Given the description of an element on the screen output the (x, y) to click on. 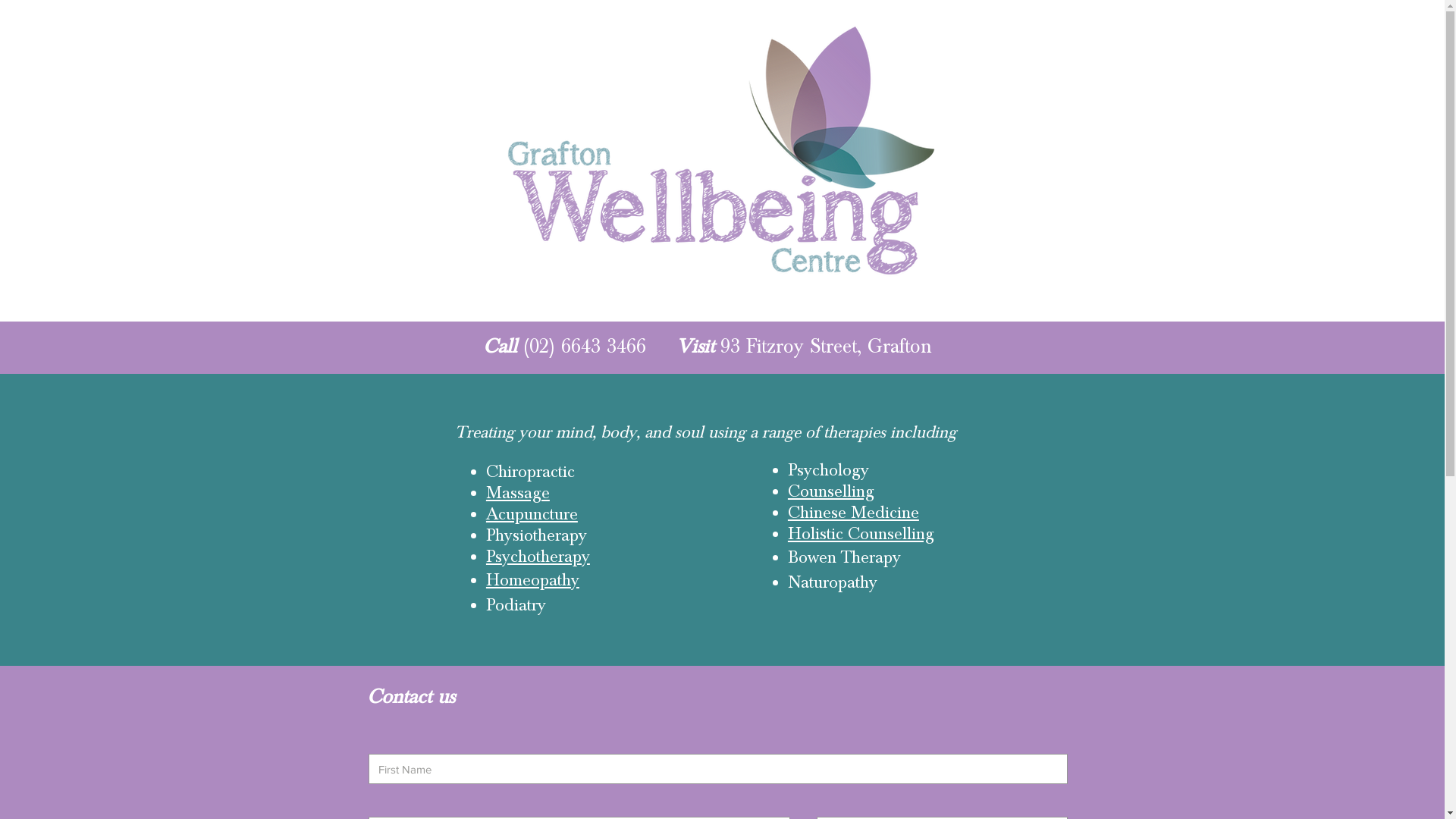
Counselling Element type: text (830, 490)
Holistic Counselling Element type: text (860, 533)
Homeopathy Element type: text (532, 579)
Chinese Medicine Element type: text (853, 511)
Acupuncture Element type: text (531, 513)
Massage Element type: text (517, 492)
Psychotherapy Element type: text (537, 555)
